Given the description of an element on the screen output the (x, y) to click on. 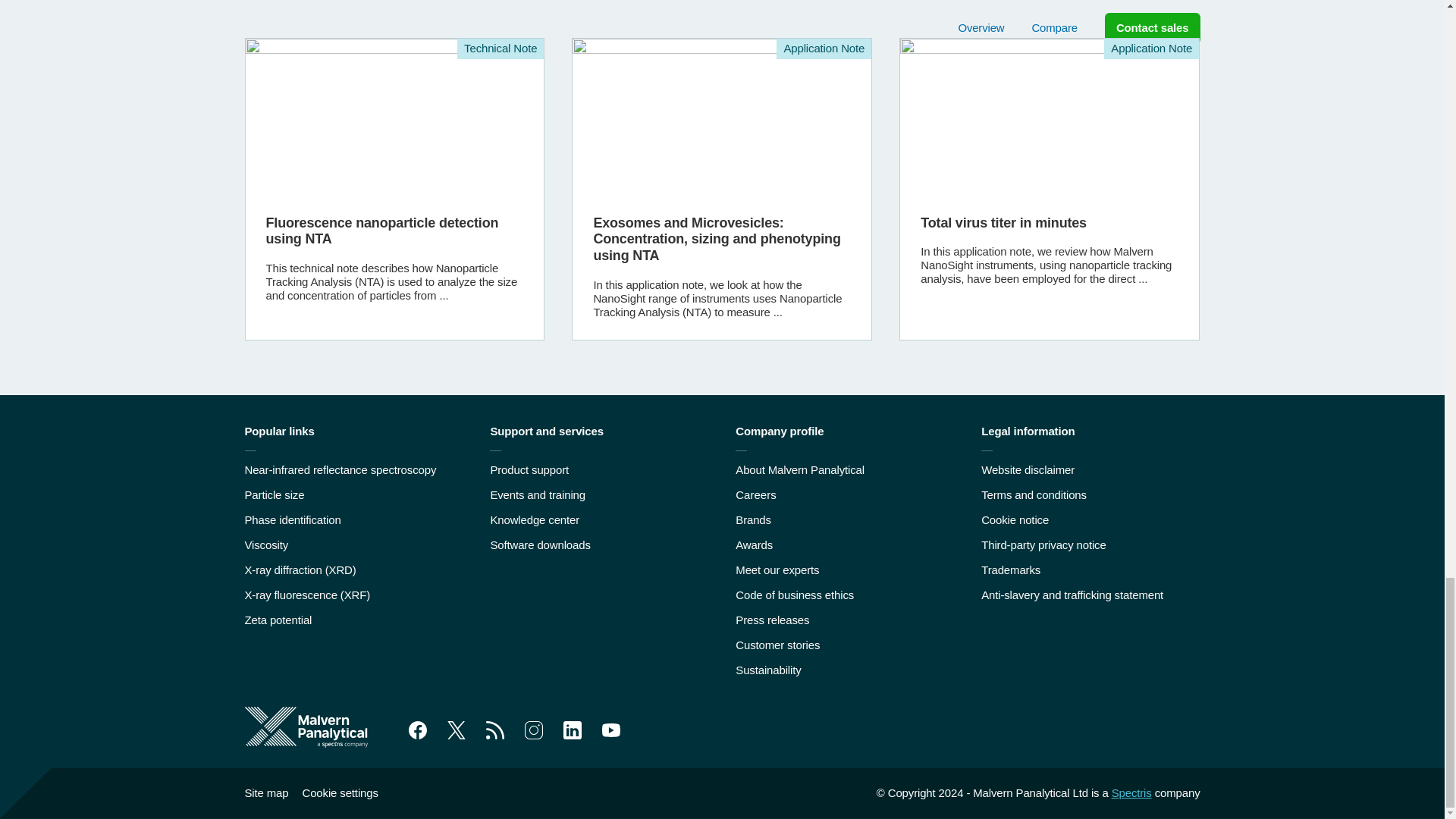
Awards (754, 544)
Customer stories (777, 644)
Viscosity (266, 544)
Phase identification (292, 519)
Events and training (537, 494)
Total virus titer in minutes (1048, 188)
Particle size (274, 494)
Fluorescence nanoparticle detection using NTA (395, 188)
Knowledge Centre (534, 519)
Ethics (794, 594)
